Given the description of an element on the screen output the (x, y) to click on. 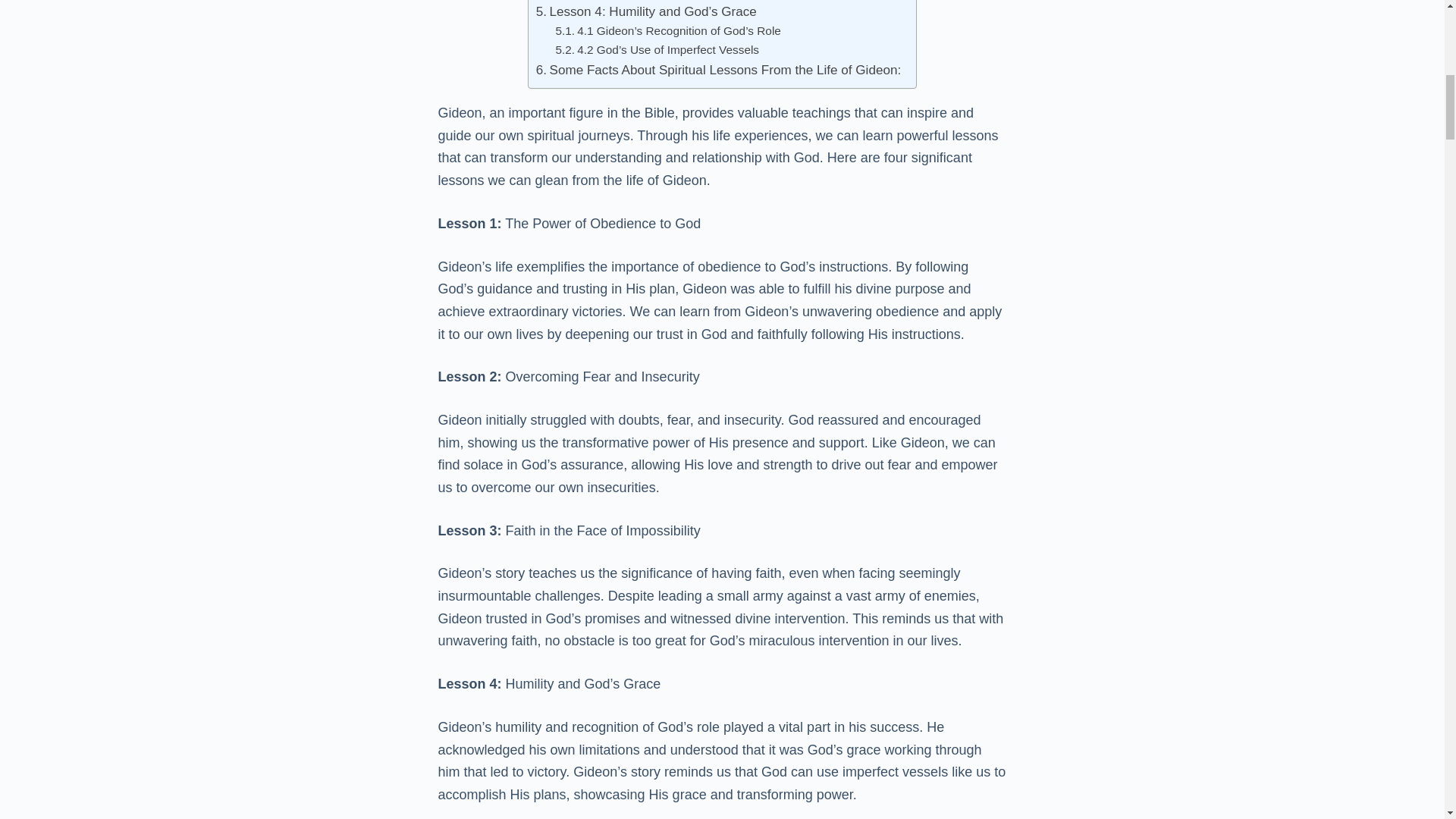
Some Facts About Spiritual Lessons From the Life of Gideon: (718, 69)
